Given the description of an element on the screen output the (x, y) to click on. 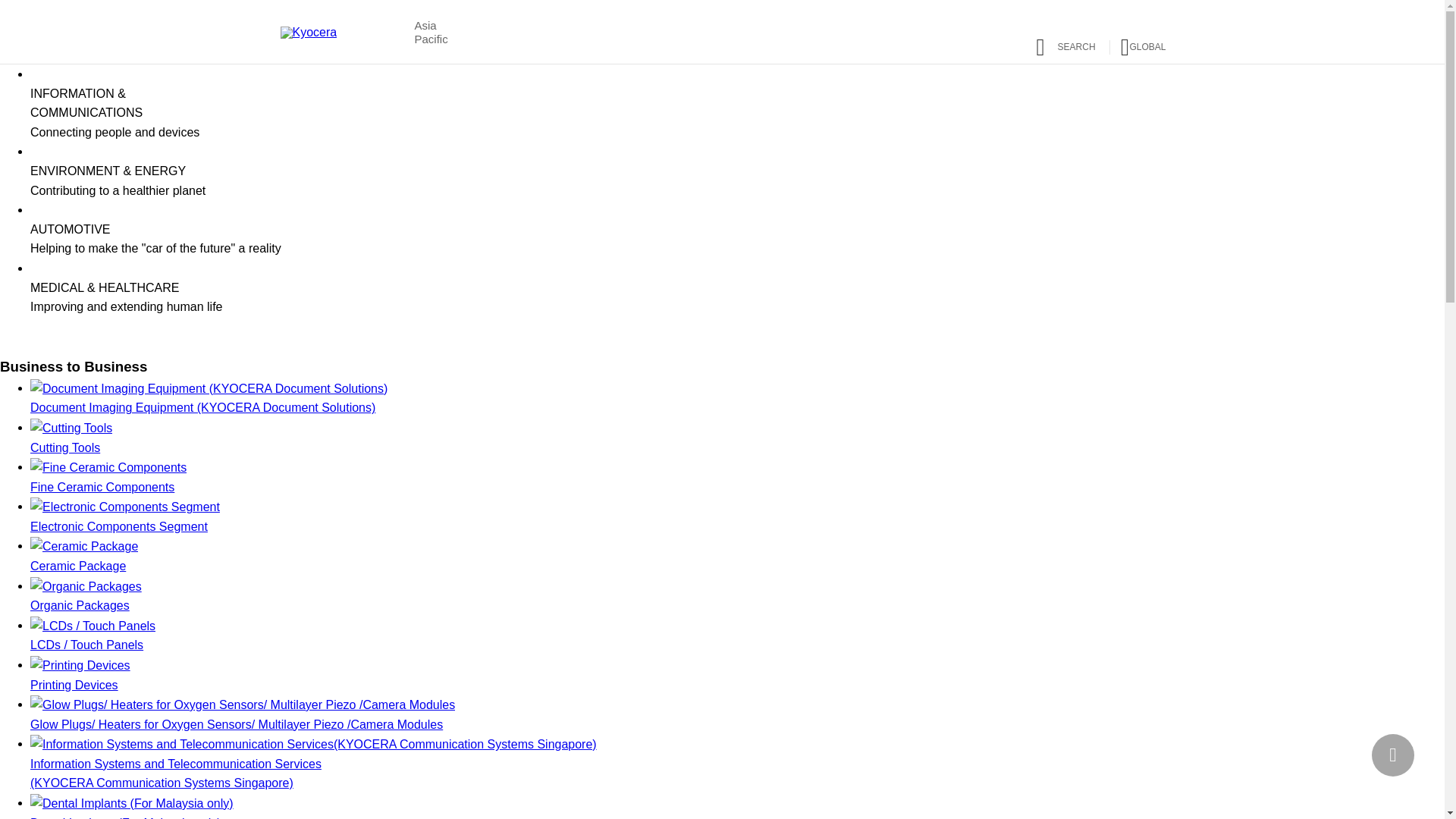
GLOBAL Element type: text (1131, 42)
Printing Devices Element type: text (737, 674)
Fine Ceramic Components Element type: text (737, 476)
Cutting Tools Element type: text (737, 437)
Document Imaging Equipment (KYOCERA Document Solutions) Element type: text (737, 397)
Electronic Components Segment Element type: text (737, 516)
Organic Packages Element type: text (737, 595)
Ceramic Package Element type: text (737, 555)
LCDs / Touch Panels Element type: text (737, 635)
